Given the description of an element on the screen output the (x, y) to click on. 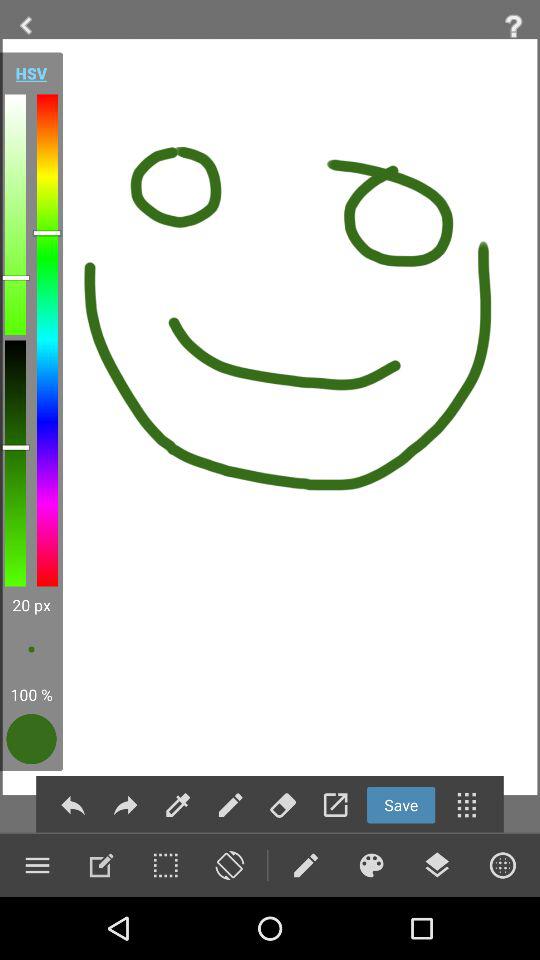
apps (466, 804)
